Given the description of an element on the screen output the (x, y) to click on. 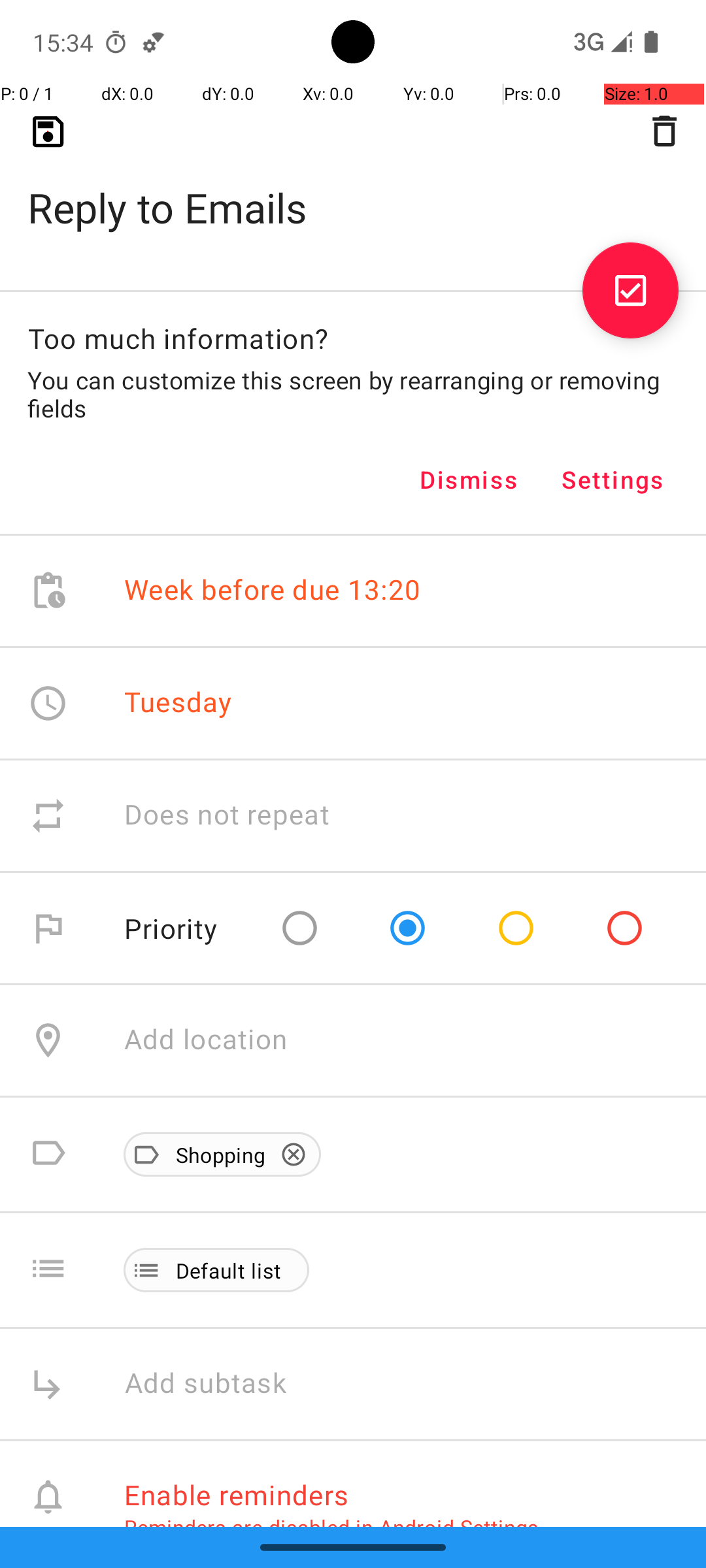
Week before due 13:20 Element type: android.widget.TextView (272, 590)
Shopping Element type: android.widget.TextView (213, 1154)
